Given the description of an element on the screen output the (x, y) to click on. 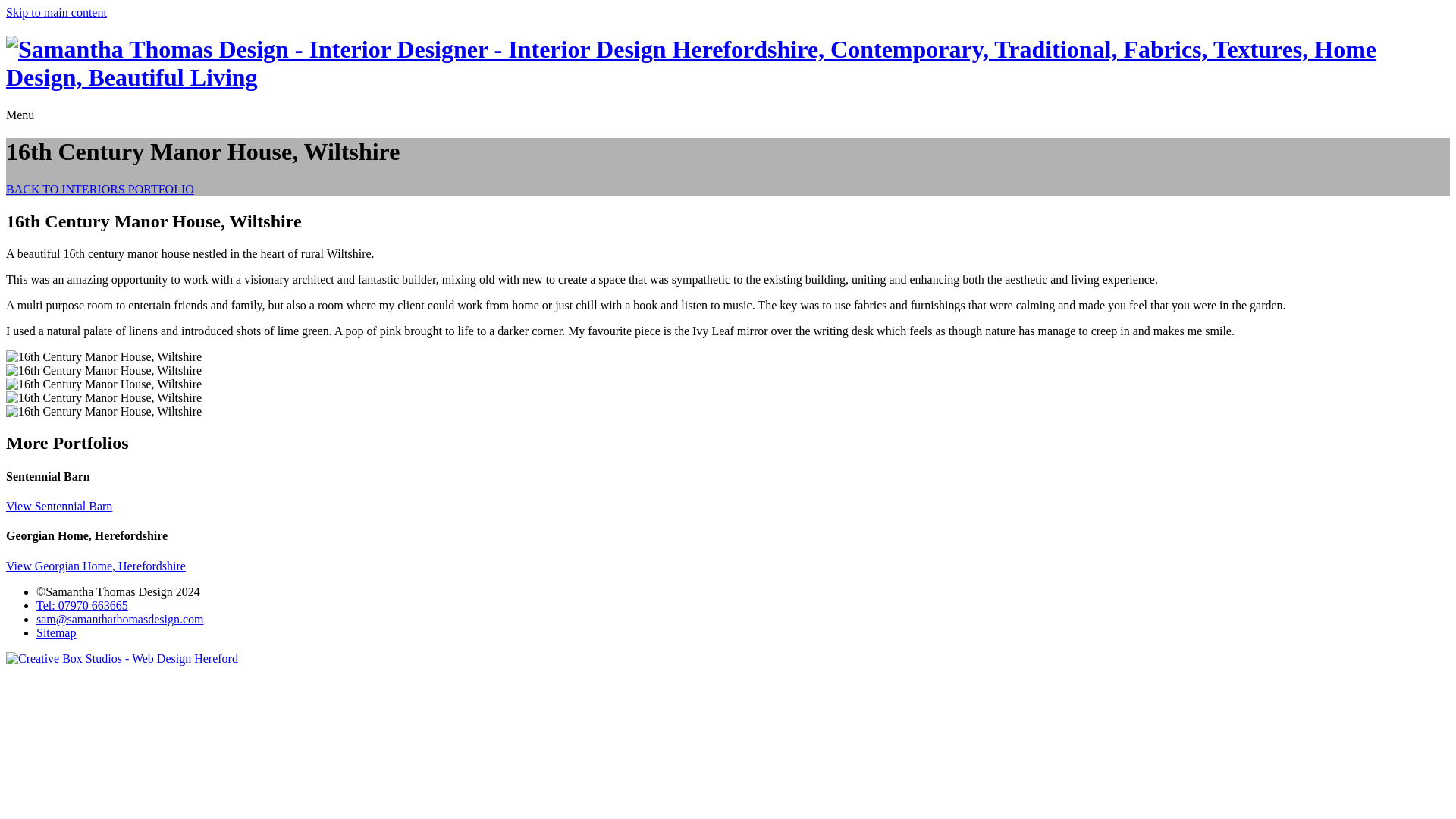
BACK TO INTERIORS PORTFOLIO (99, 188)
View Georgian Home, Herefordshire (95, 565)
Tel: 07970 663665 (82, 604)
Skip to main content (55, 11)
BACK TO INTERIORS PORTFOLIO (99, 188)
View Sentennial Barn (58, 505)
Sitemap (55, 632)
